Given the description of an element on the screen output the (x, y) to click on. 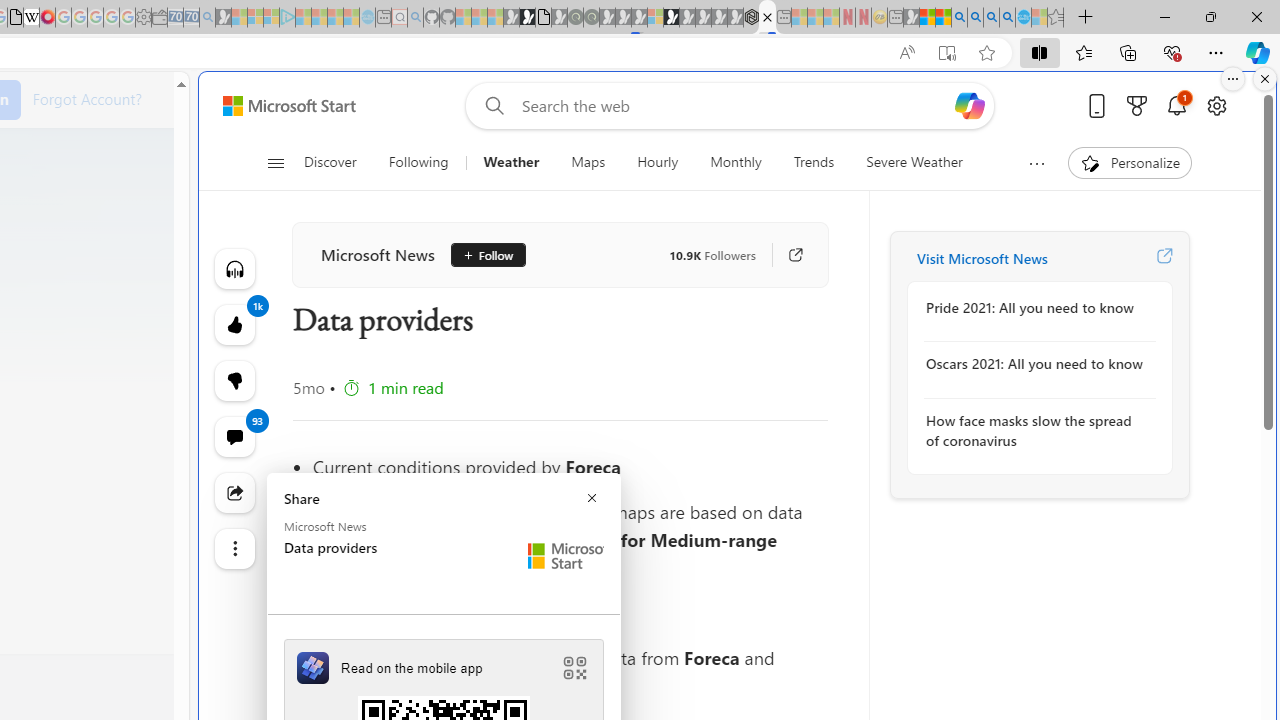
Other map data provided by Foreca (570, 613)
Listen to this article (234, 268)
Follow (480, 255)
Wallet - Sleeping (159, 17)
Enter your search term (734, 106)
Current conditions provided by Foreca (570, 466)
Class: button-glyph (275, 162)
github - Search - Sleeping (415, 17)
Bing Real Estate - Home sales and rental listings - Sleeping (207, 17)
Nordace - Cooler Bags (751, 17)
Home | Sky Blue Bikes - Sky Blue Bikes - Sleeping (367, 17)
